Given the description of an element on the screen output the (x, y) to click on. 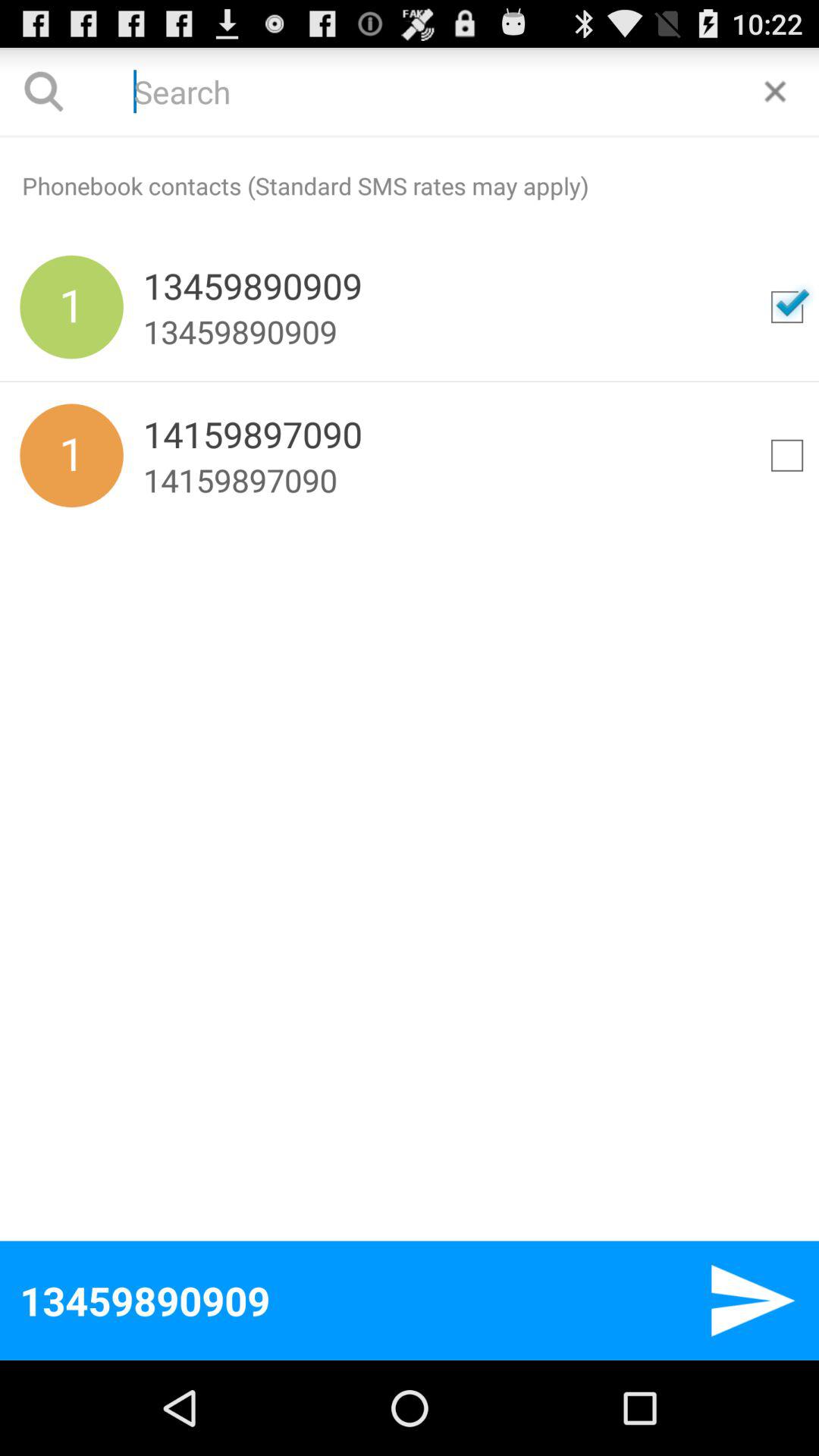
search (409, 91)
